Given the description of an element on the screen output the (x, y) to click on. 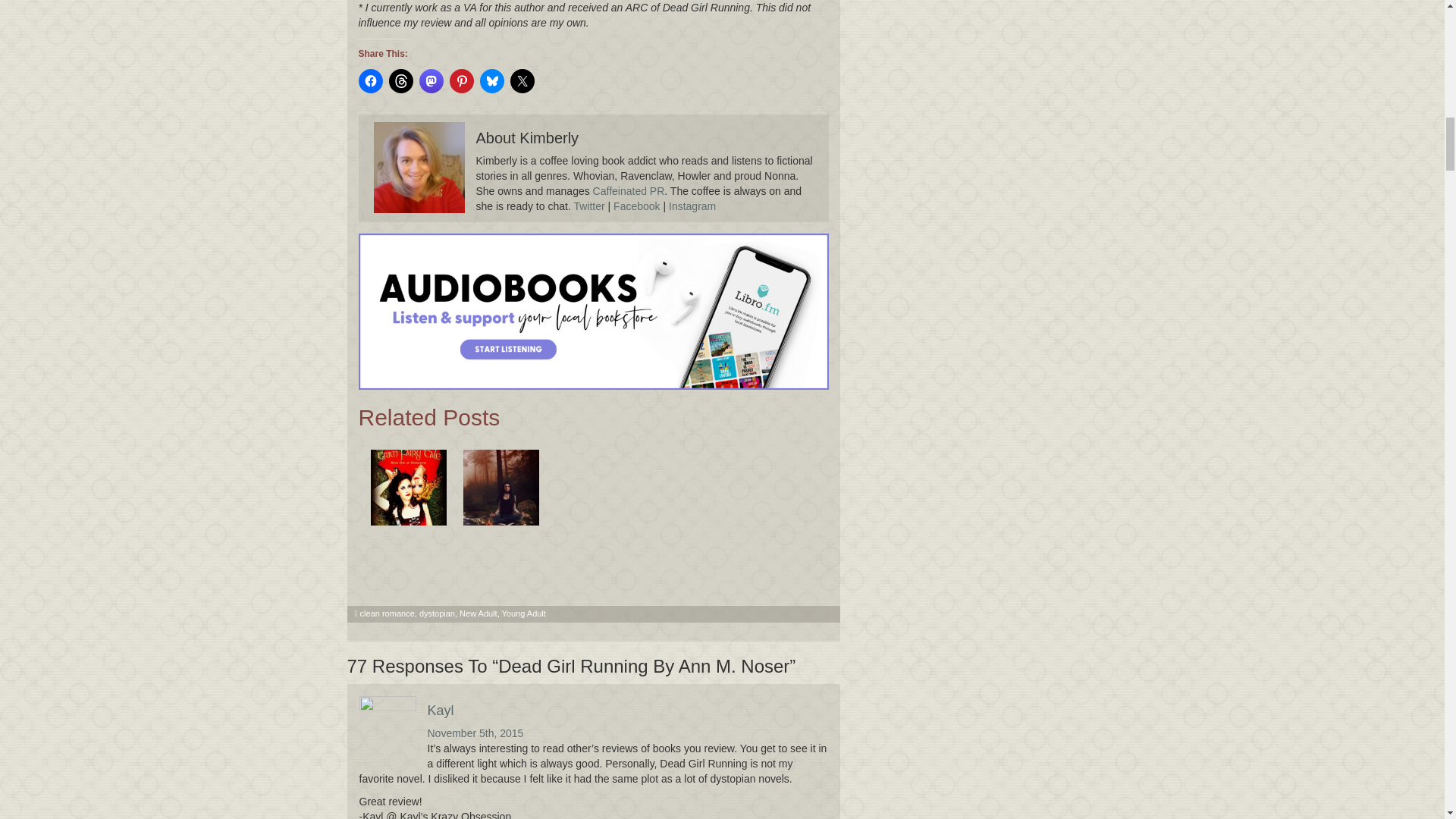
Click to share on Bluesky (491, 80)
Click to share on Mastodon (430, 80)
Click to share on Pinterest (460, 80)
Click to share on X (521, 80)
Click to share on Facebook (369, 80)
Click to share on Threads (400, 80)
